Given the description of an element on the screen output the (x, y) to click on. 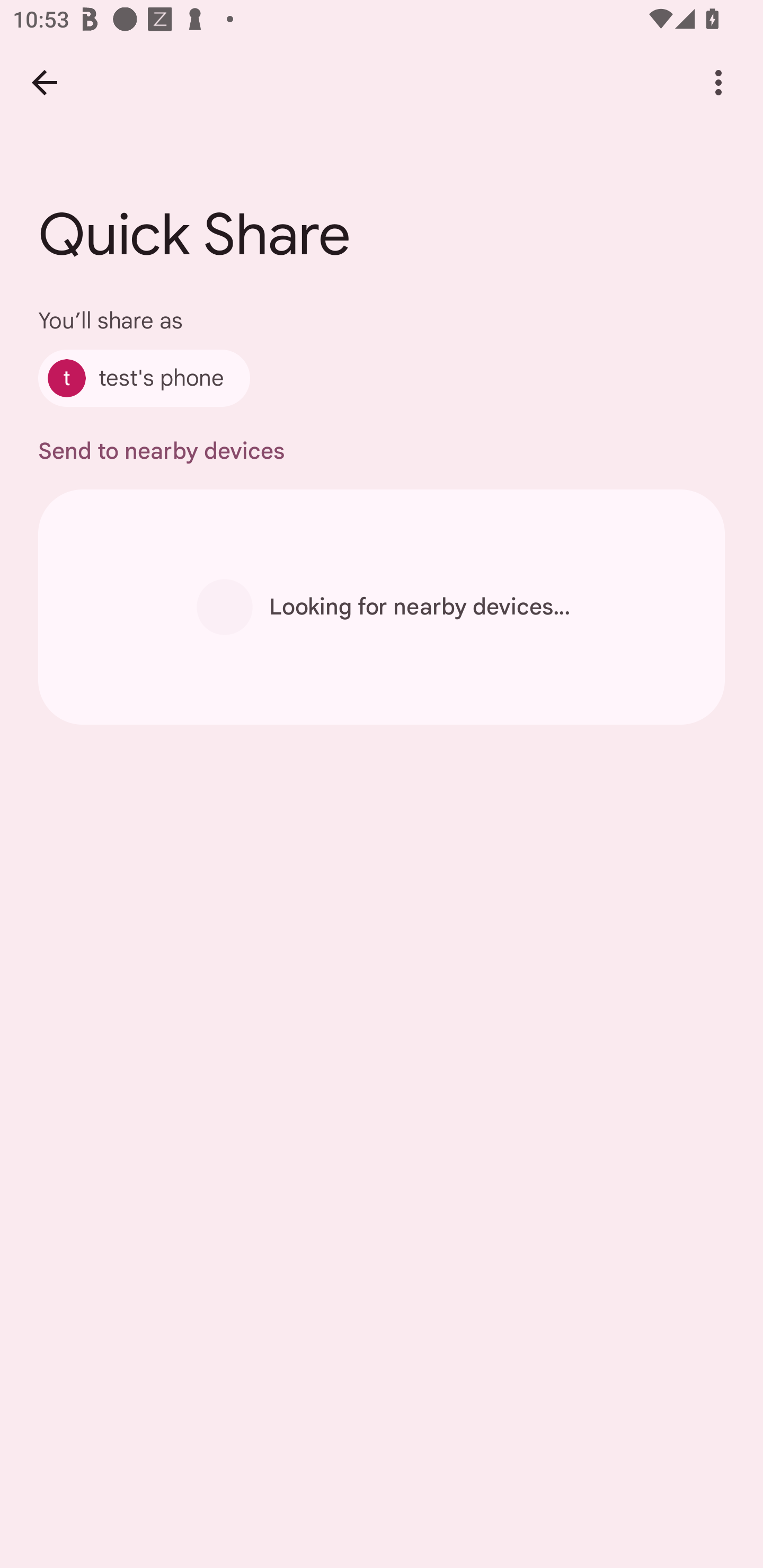
Back (44, 81)
More (718, 81)
test's phone (144, 378)
